Given the description of an element on the screen output the (x, y) to click on. 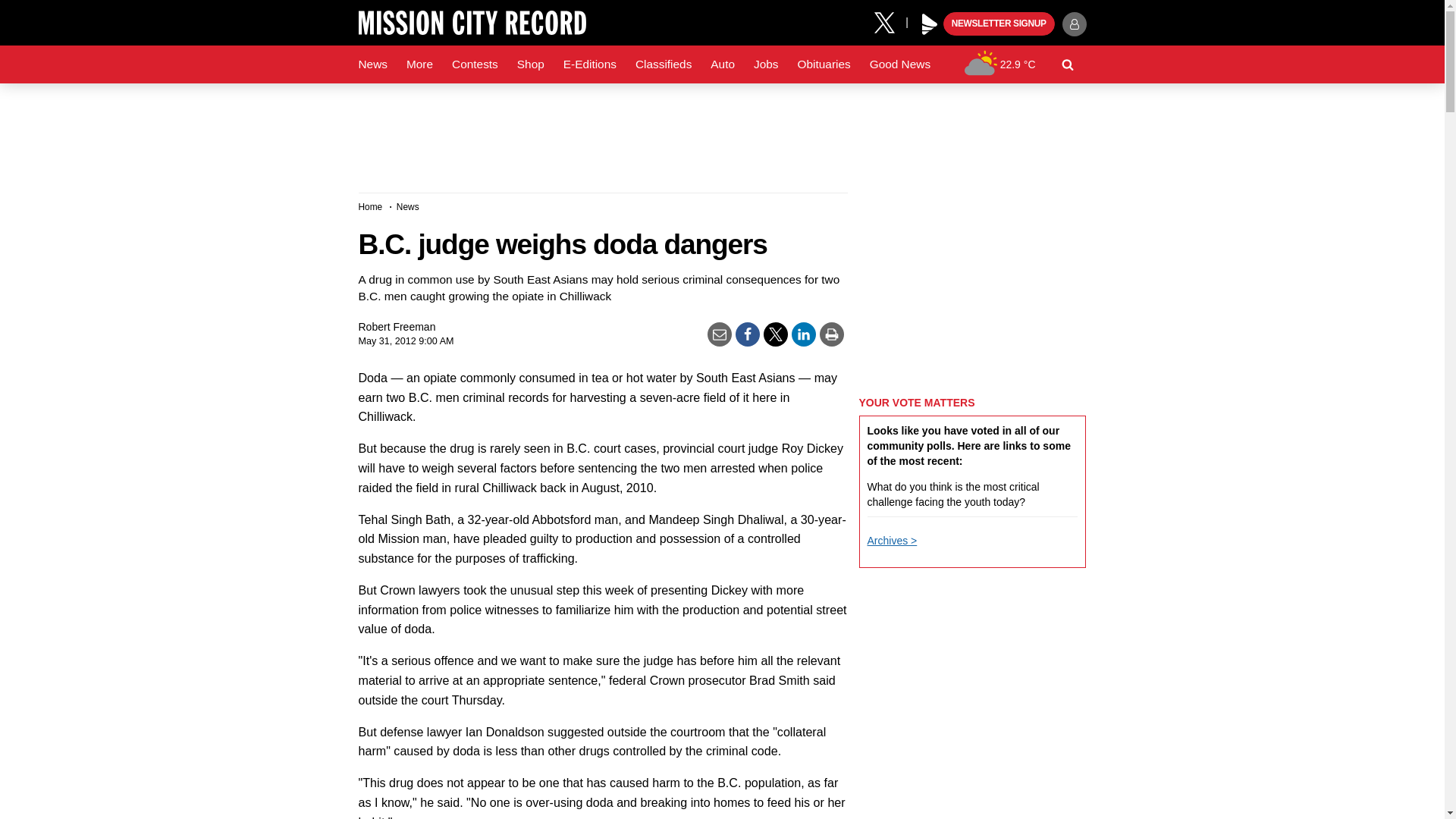
NEWSLETTER SIGNUP (998, 24)
Play (929, 24)
X (889, 21)
Black Press Media (929, 24)
News (372, 64)
